Given the description of an element on the screen output the (x, y) to click on. 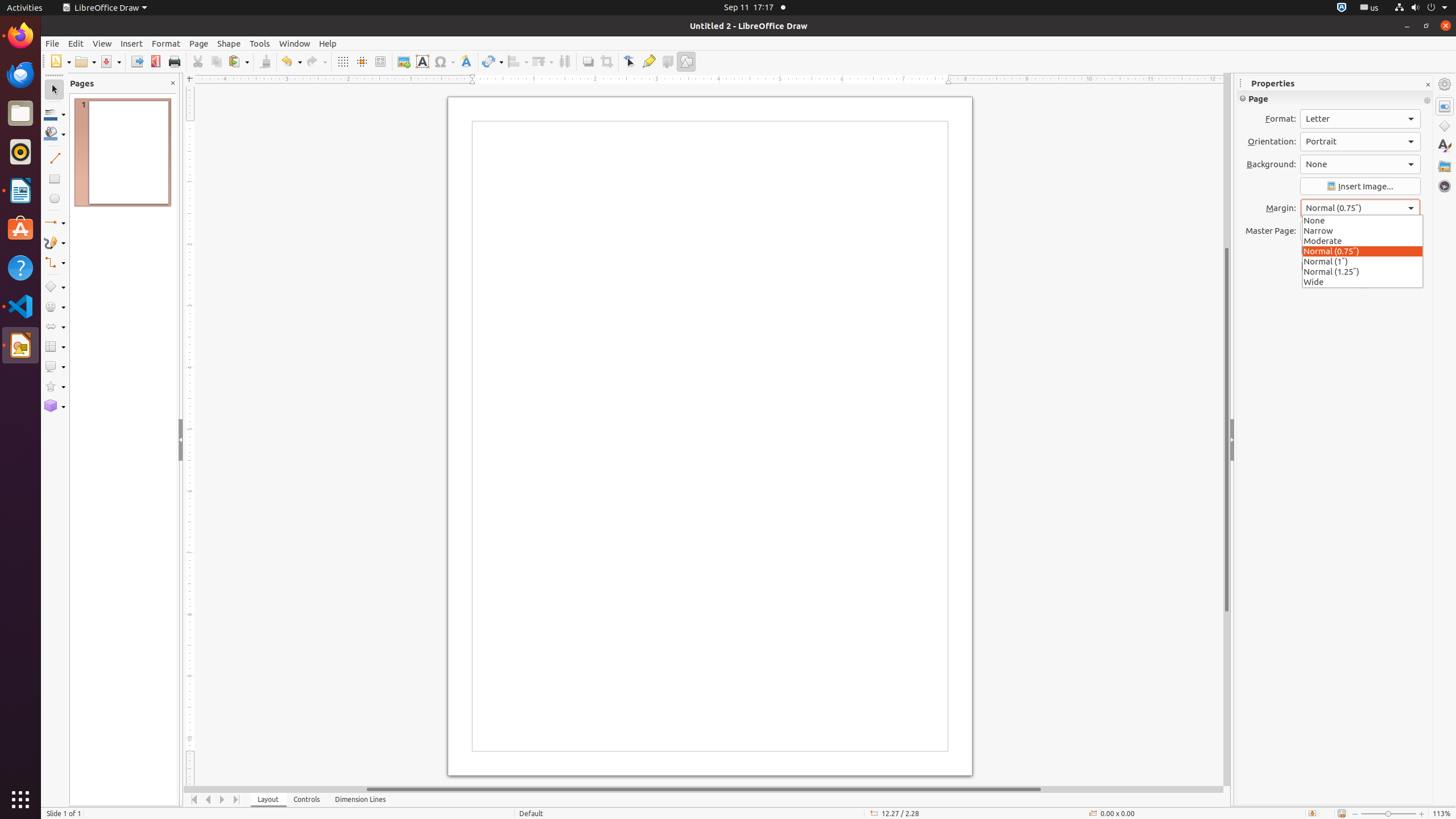
Background: Element type: combo-box (1360, 164)
Shape Element type: menu (228, 43)
Vertical scroll bar Element type: scroll-bar (1226, 429)
Select Element type: push-button (53, 89)
Curves and Polygons Element type: push-button (54, 242)
